Given the description of an element on the screen output the (x, y) to click on. 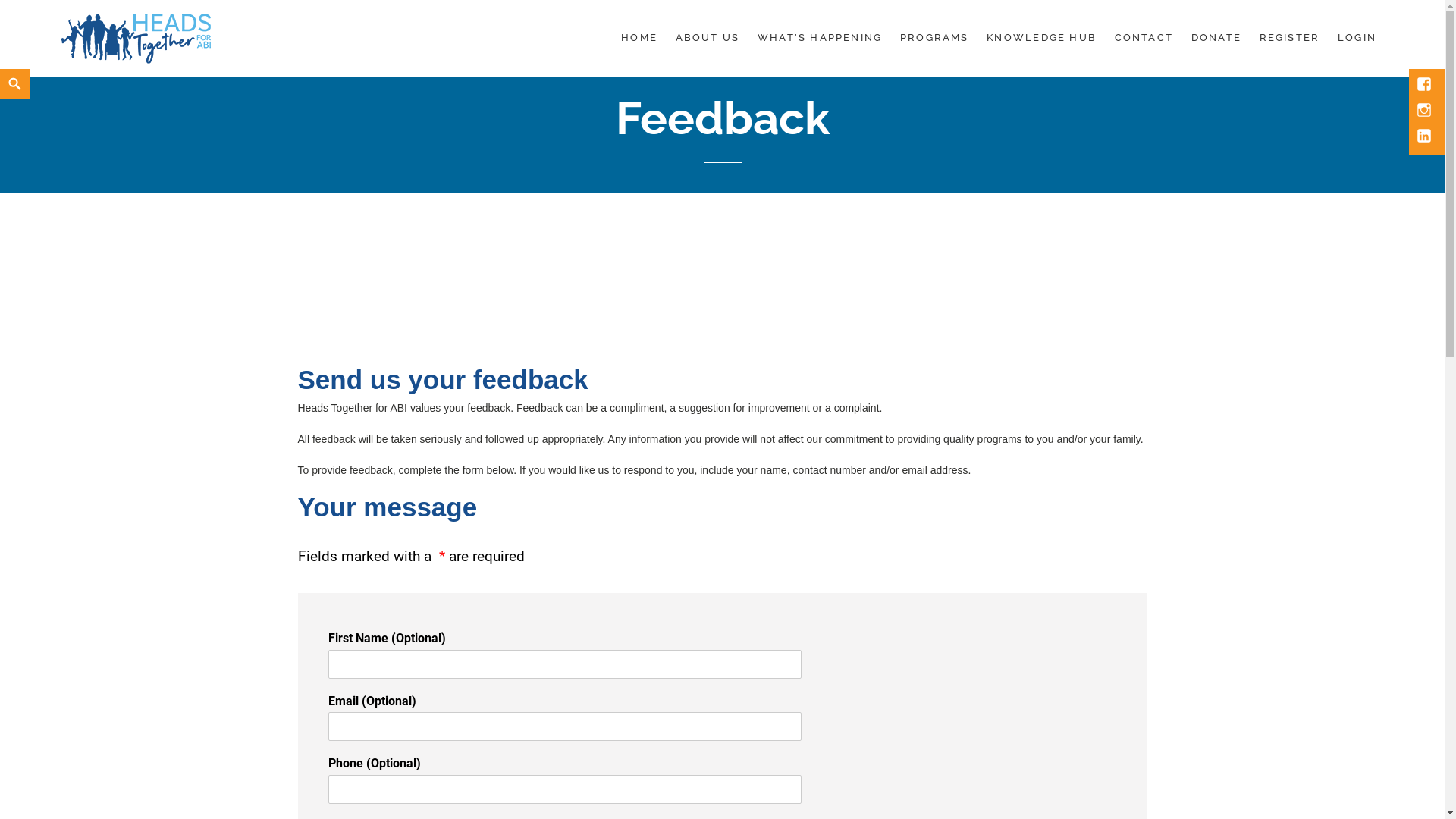
KNOWLEDGE HUB Element type: text (1041, 38)
ABOUT US Element type: text (707, 38)
PROGRAMS Element type: text (934, 38)
CONTACT Element type: text (1143, 38)
LOGIN Element type: text (1356, 38)
HOME Element type: text (639, 38)
				 Element type: hover (1425, 137)
Heads Together for ABI Element type: text (170, 78)
REGISTER Element type: text (1289, 38)
DONATE Element type: text (1216, 38)
				 Element type: hover (1425, 111)
				 Element type: hover (1425, 85)
